Given the description of an element on the screen output the (x, y) to click on. 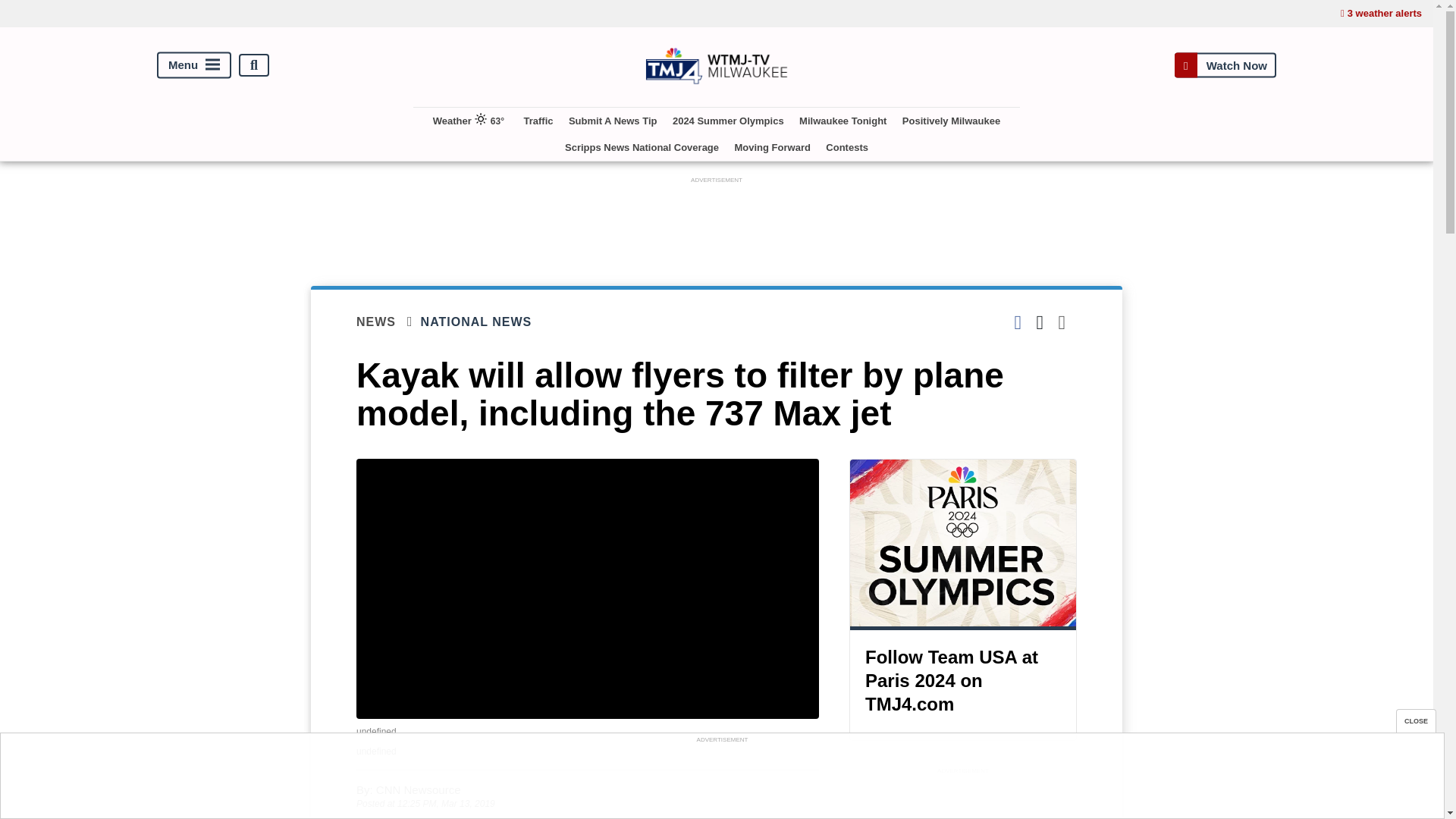
3rd party ad content (962, 798)
3rd party ad content (721, 780)
3rd party ad content (716, 221)
Menu (194, 65)
Watch Now (1224, 65)
